Given the description of an element on the screen output the (x, y) to click on. 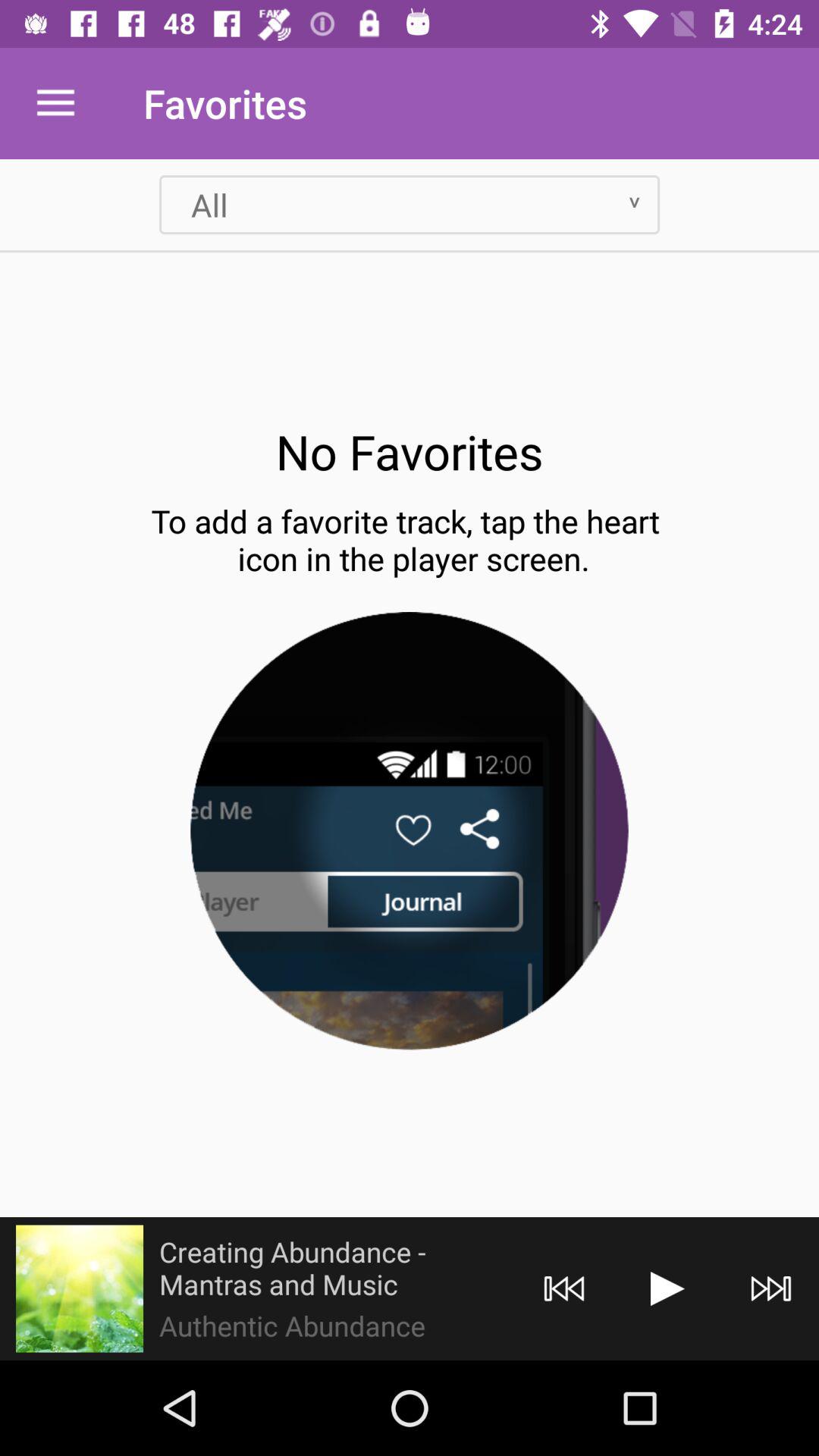
play next song (771, 1288)
